Given the description of an element on the screen output the (x, y) to click on. 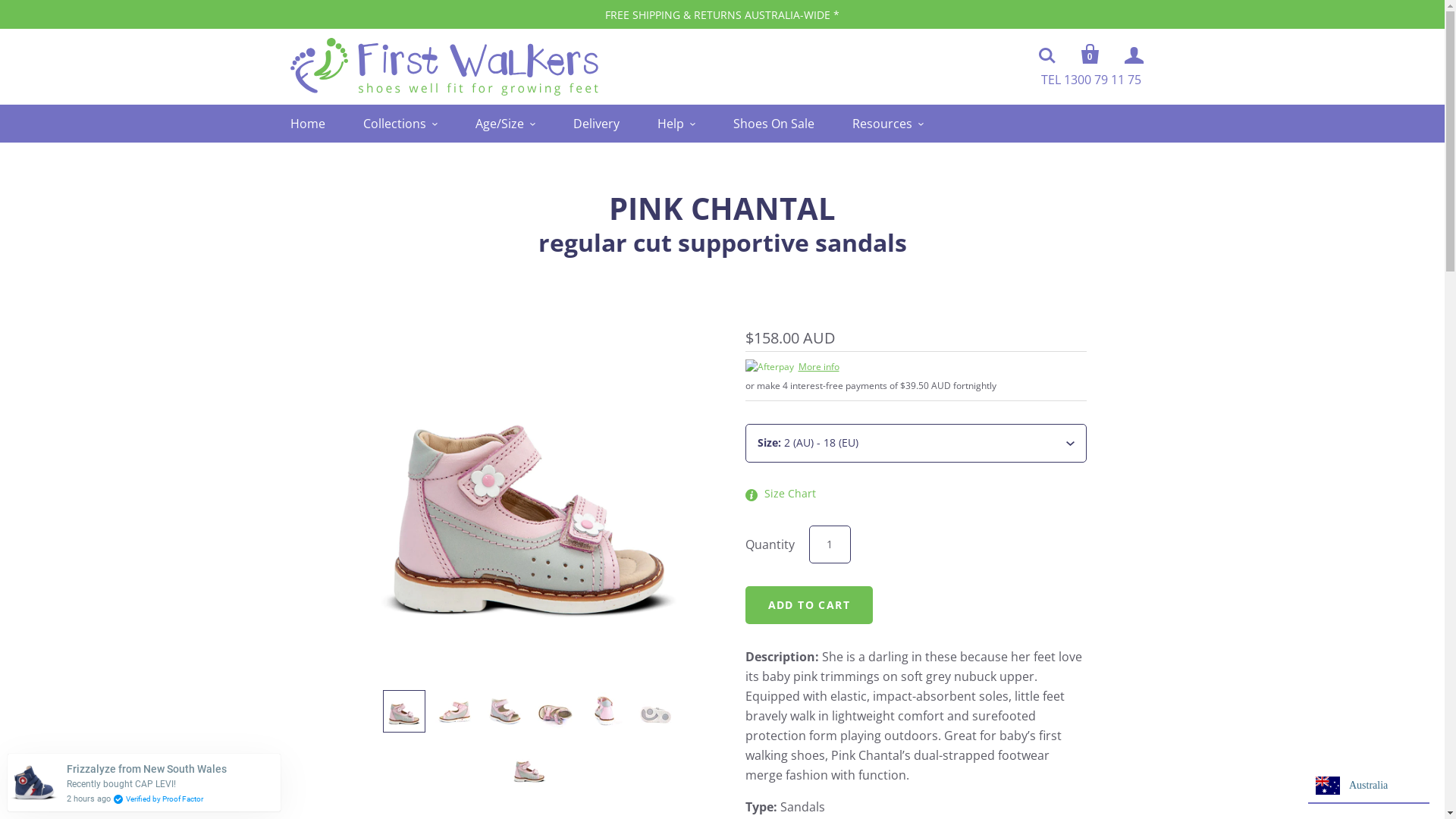
Home Element type: text (306, 123)
Delivery Element type: text (596, 123)
Shoes On Sale Element type: text (772, 123)
Resources Element type: text (887, 123)
  More info Element type: text (914, 366)
Age/Size Element type: text (504, 123)
Size Chart Element type: text (789, 493)
FREE SHIPPING & RETURNS AUSTRALIA-WIDE * Element type: text (722, 14)
Add to cart Element type: text (808, 604)
Collections Element type: text (399, 123)
Help Element type: text (675, 123)
